Given the description of an element on the screen output the (x, y) to click on. 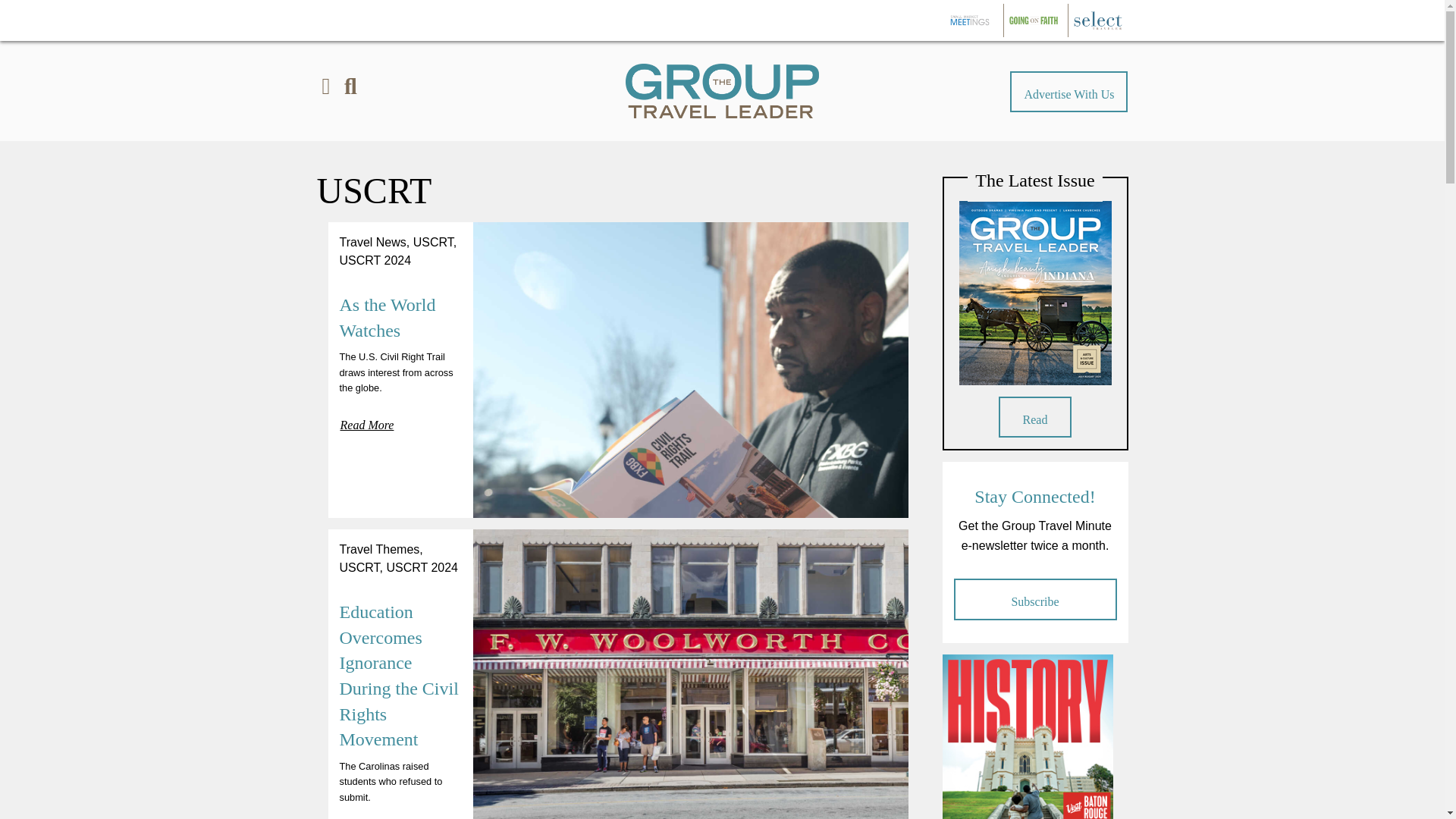
Advertise With Us (1068, 91)
Read More (366, 815)
Read More (366, 422)
As the World Watches (387, 317)
As the World Watches (387, 317)
